Given the description of an element on the screen output the (x, y) to click on. 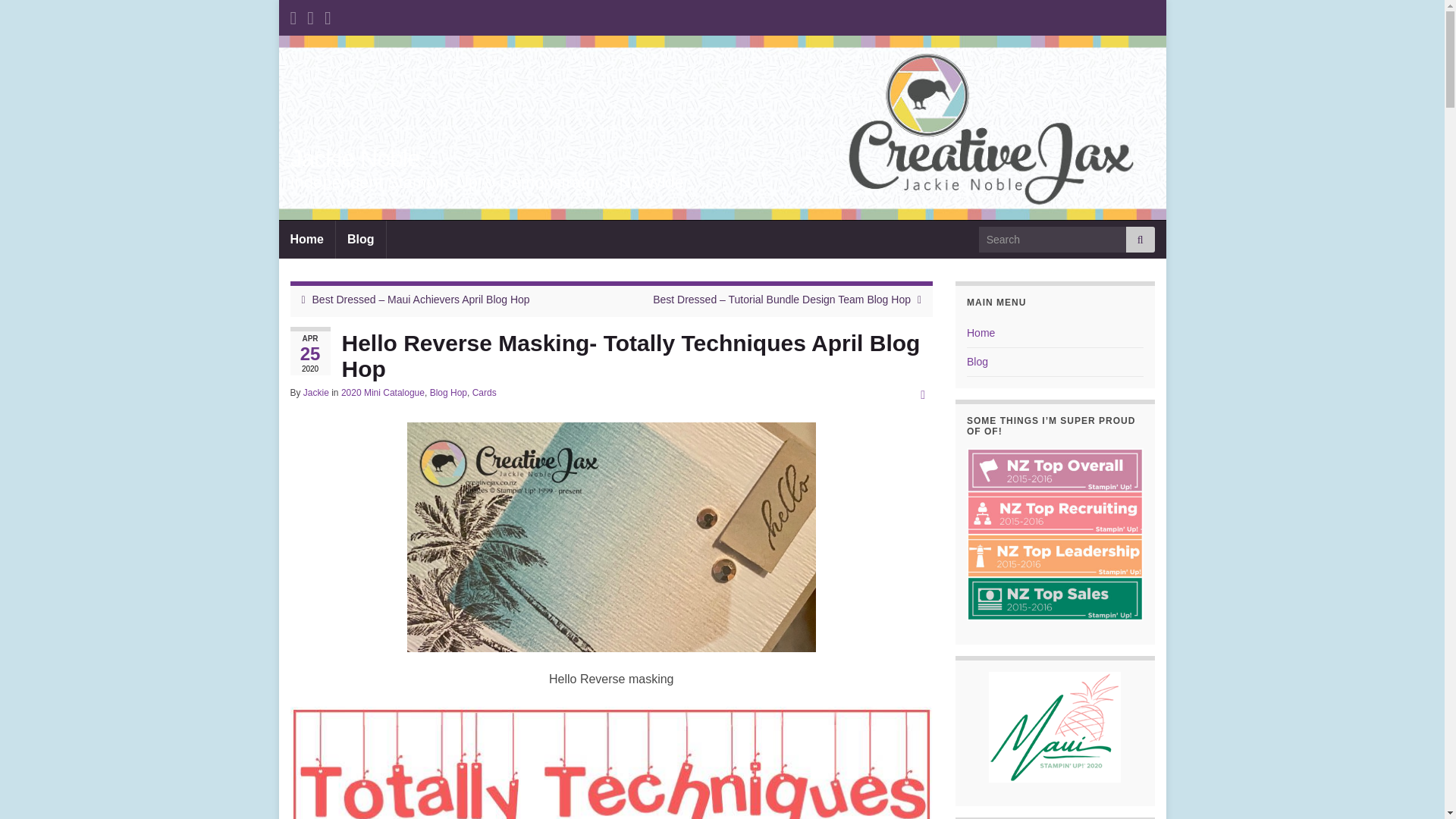
Print this post (922, 394)
Cards (483, 392)
Jackie Noble (354, 157)
Blog (360, 239)
Home (306, 239)
Jackie (315, 392)
2020 Mini Catalogue (382, 392)
Blog Hop (448, 392)
Facebook (293, 15)
Instagram (327, 15)
Pinterest (310, 15)
Go back to the front page (354, 157)
